Given the description of an element on the screen output the (x, y) to click on. 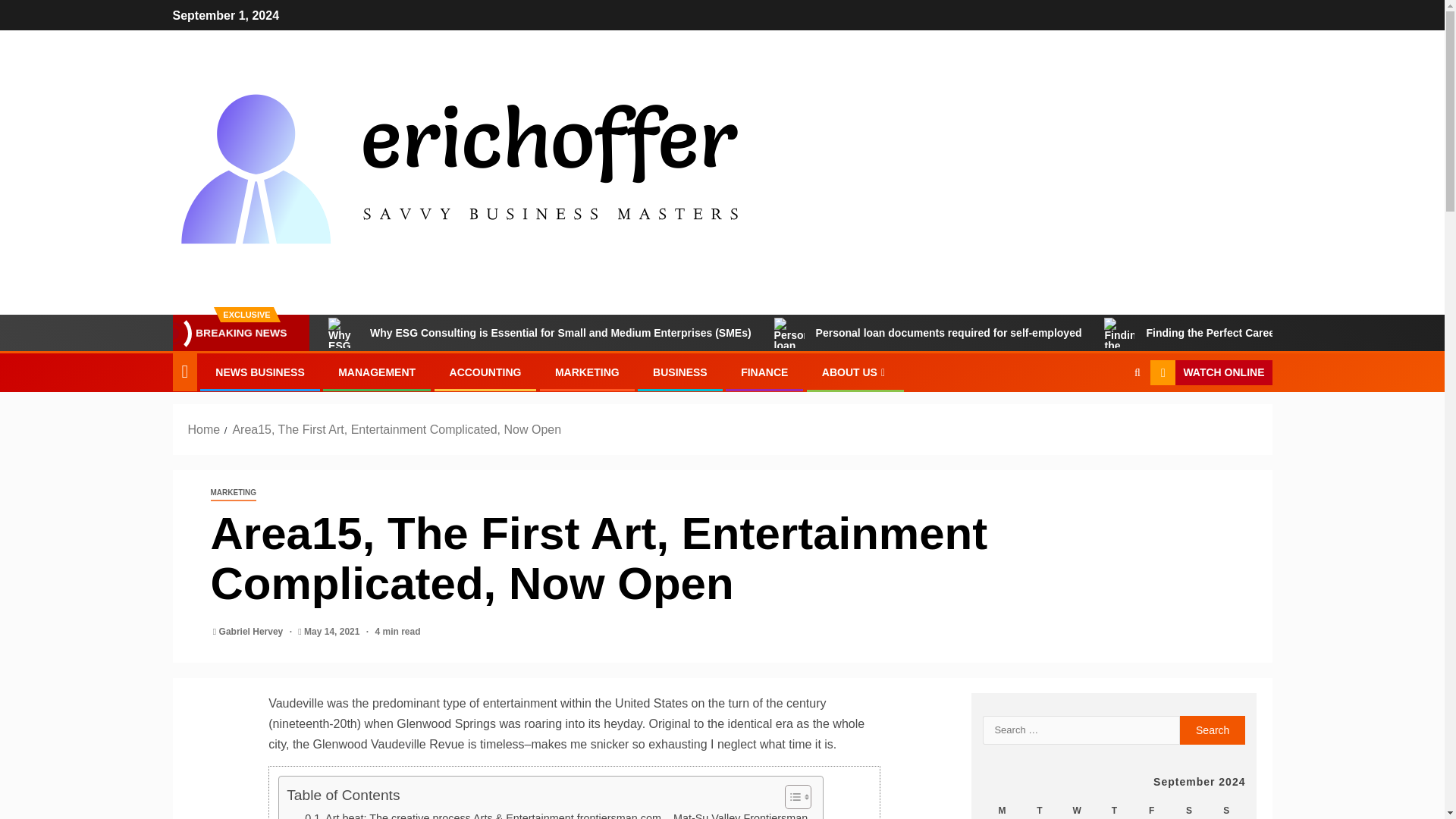
MANAGEMENT (375, 372)
Search (1212, 729)
BUSINESS (679, 372)
Home (204, 429)
Search (1107, 419)
MARKETING (234, 493)
Personal loan documents required for self-employed (927, 332)
ACCOUNTING (485, 372)
FINANCE (764, 372)
WATCH ONLINE (1210, 372)
